Given the description of an element on the screen output the (x, y) to click on. 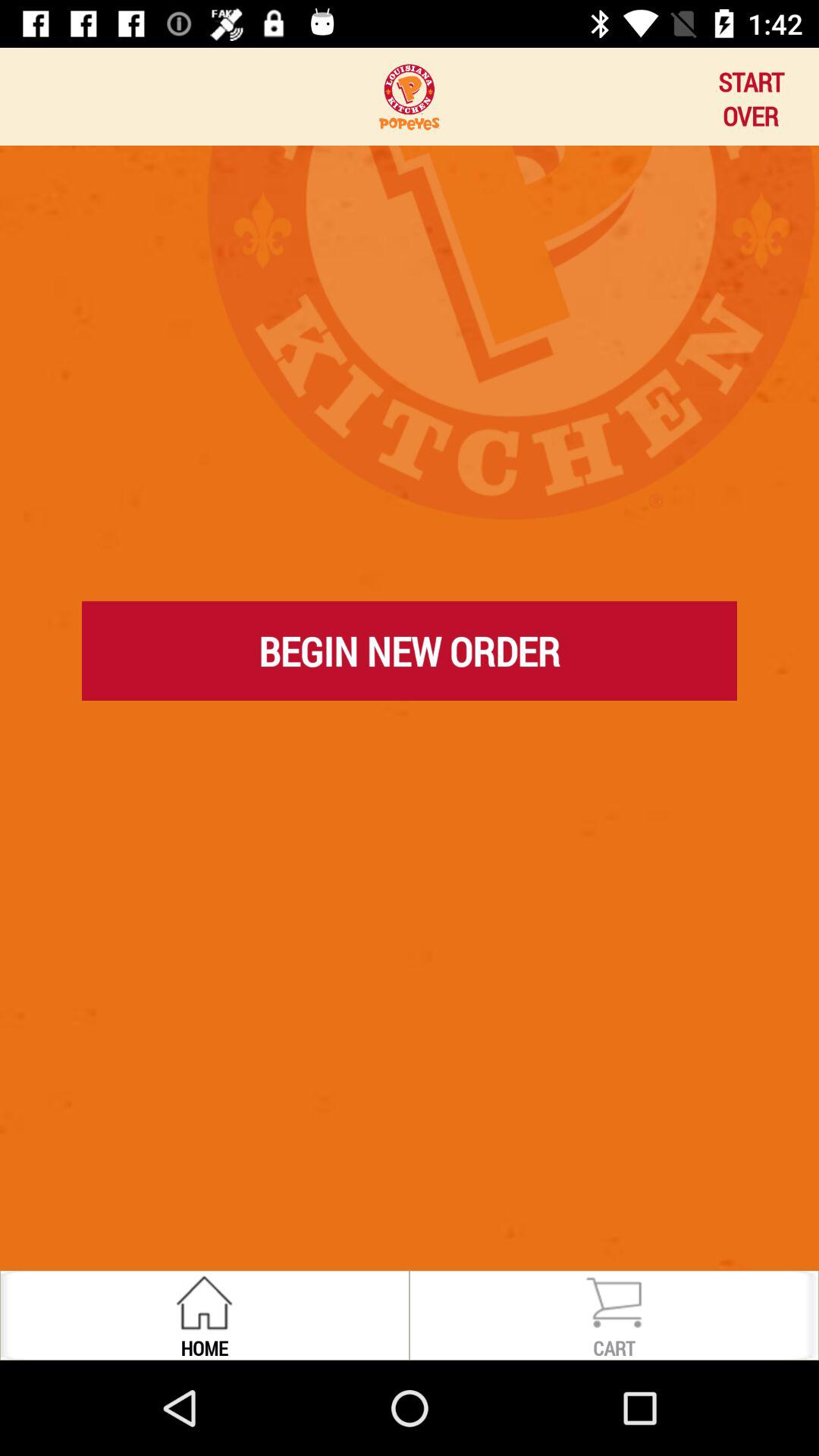
tap the home icon (204, 1347)
